Given the description of an element on the screen output the (x, y) to click on. 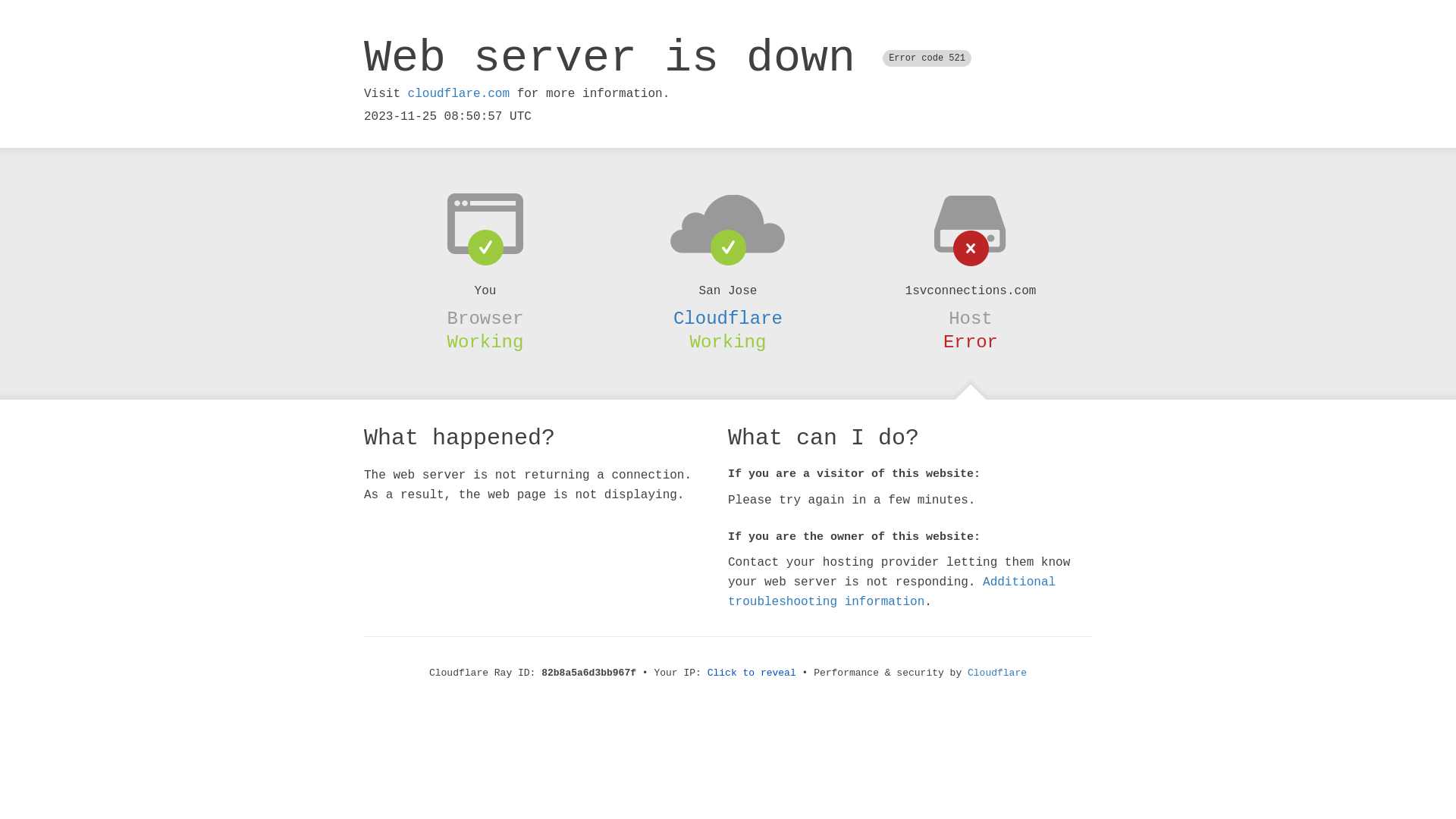
Click to reveal Element type: text (751, 672)
Cloudflare Element type: text (727, 318)
Cloudflare Element type: text (996, 672)
cloudflare.com Element type: text (458, 93)
Additional troubleshooting information Element type: text (891, 591)
